Given the description of an element on the screen output the (x, y) to click on. 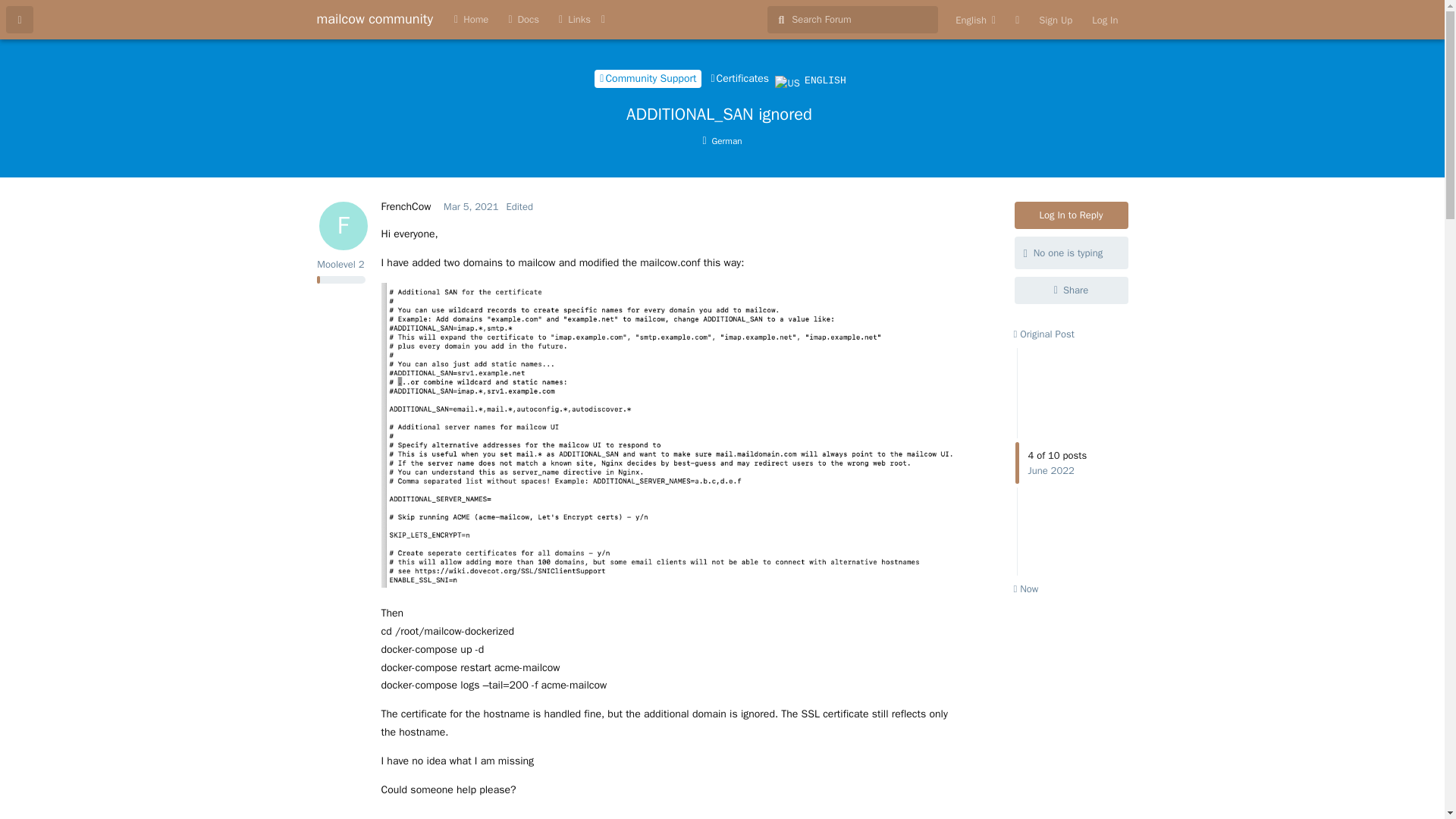
Original Post (1043, 333)
Links (573, 19)
German (722, 140)
Community Support (647, 78)
Home (470, 19)
Docs (522, 19)
English (975, 19)
Mar 5, 2021 (470, 205)
Friday, March 5, 2021 1:13 AM (470, 205)
Log In (1103, 19)
Now (1025, 588)
Log In to Reply (1071, 215)
